Given the description of an element on the screen output the (x, y) to click on. 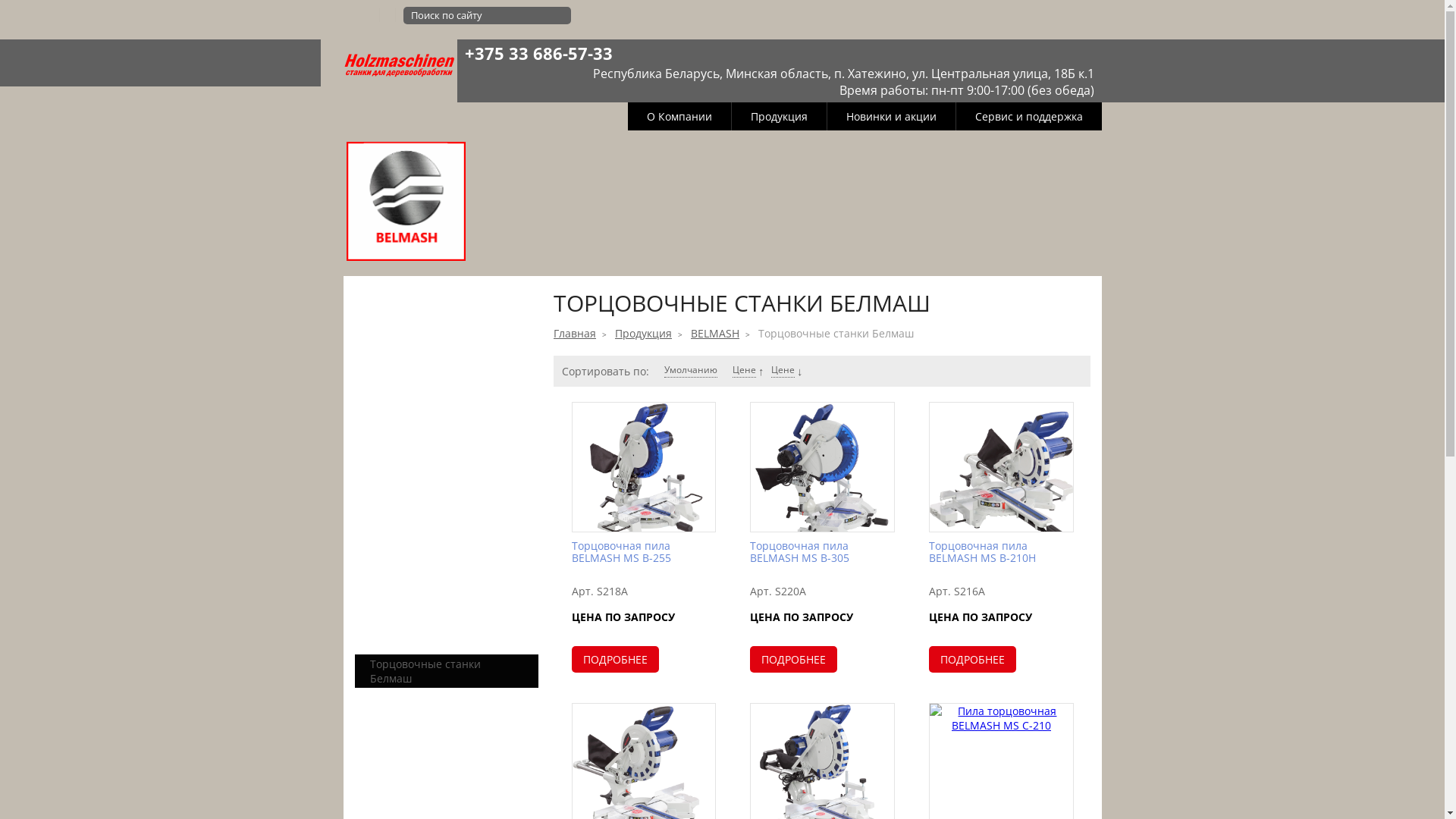
WARRIOR Element type: hover (532, 149)
JIB Element type: hover (658, 149)
BELMASH Element type: text (714, 333)
BELMASH Element type: hover (405, 202)
